Given the description of an element on the screen output the (x, y) to click on. 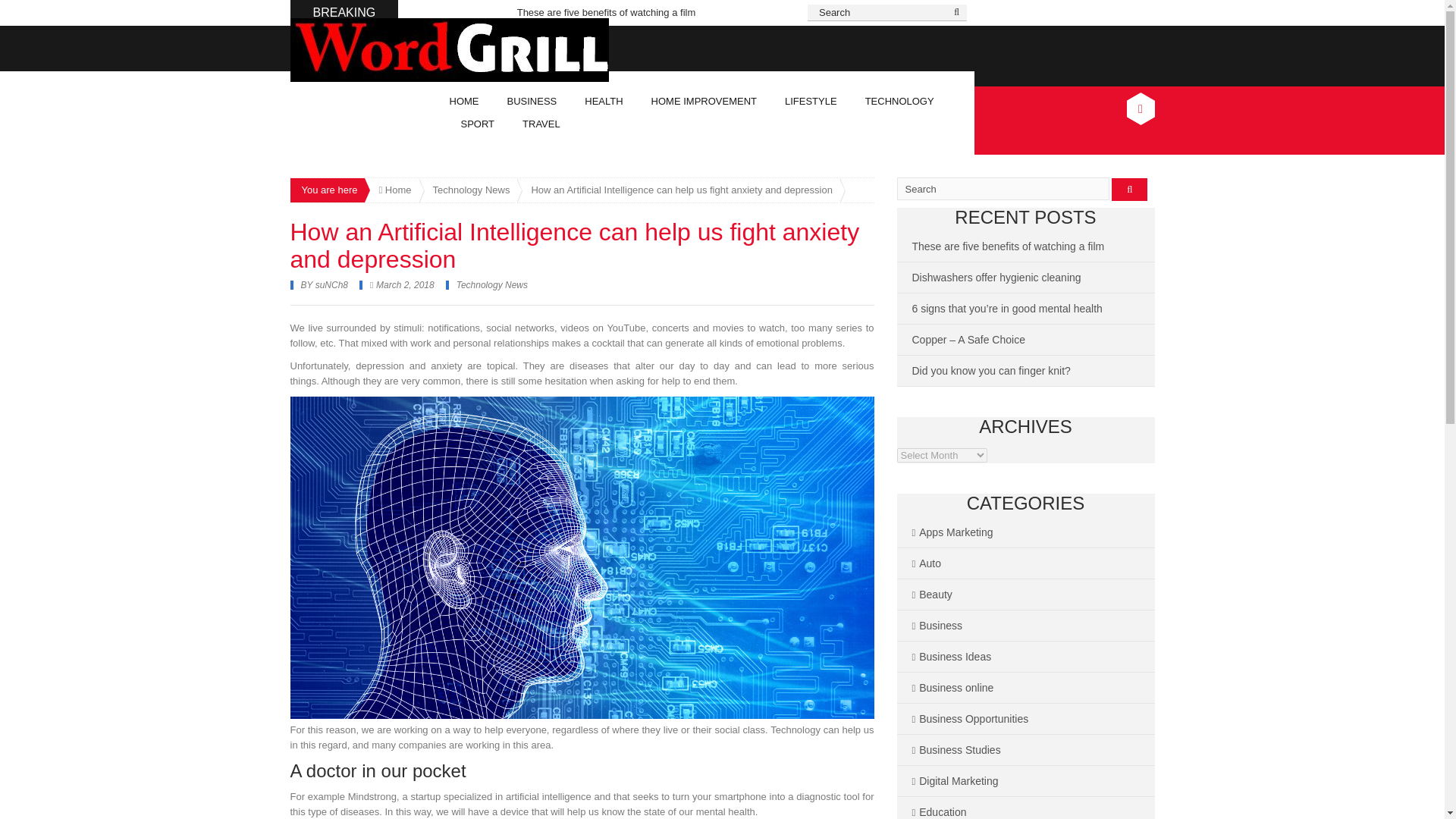
TECHNOLOGY (900, 101)
HOME (464, 101)
TRAVEL (542, 124)
HEALTH (603, 101)
Search (1002, 188)
LIFESTYLE (811, 101)
Search (887, 12)
SPORT (477, 124)
BUSINESS (532, 101)
Search (887, 12)
